Given the description of an element on the screen output the (x, y) to click on. 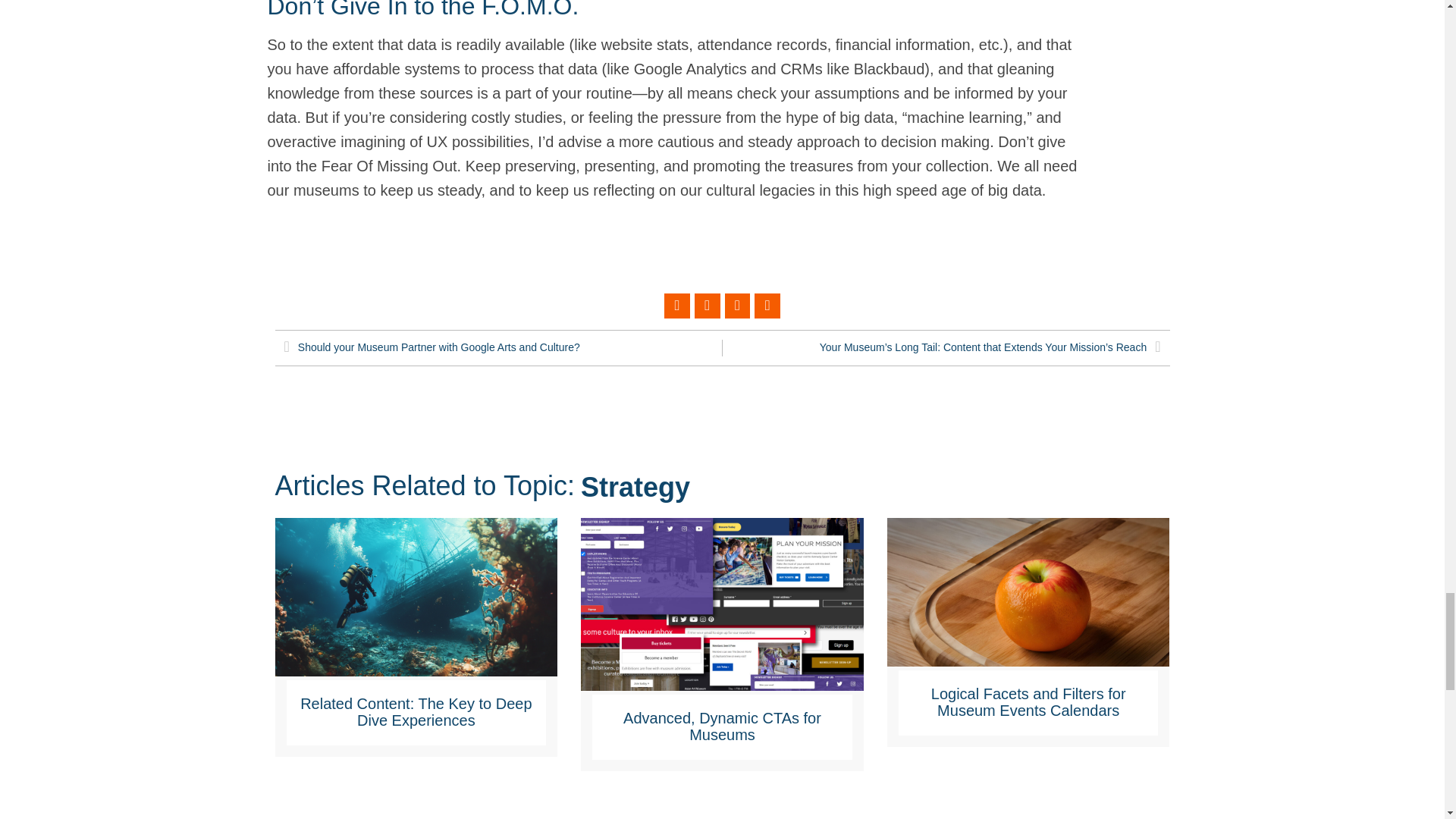
Strategy (635, 486)
Should your Museum Partner with Google Arts and Culture? (502, 347)
Advanced, Dynamic CTAs for Museums (722, 726)
Advanced, Dynamic CTAs for Museums (721, 614)
Related Content: The Key to Deep Dive Experiences (415, 711)
Related Content: The Key to Deep Dive Experiences (416, 607)
Logical Facets and Filters for Museum Events Calendars (1028, 602)
